Given the description of an element on the screen output the (x, y) to click on. 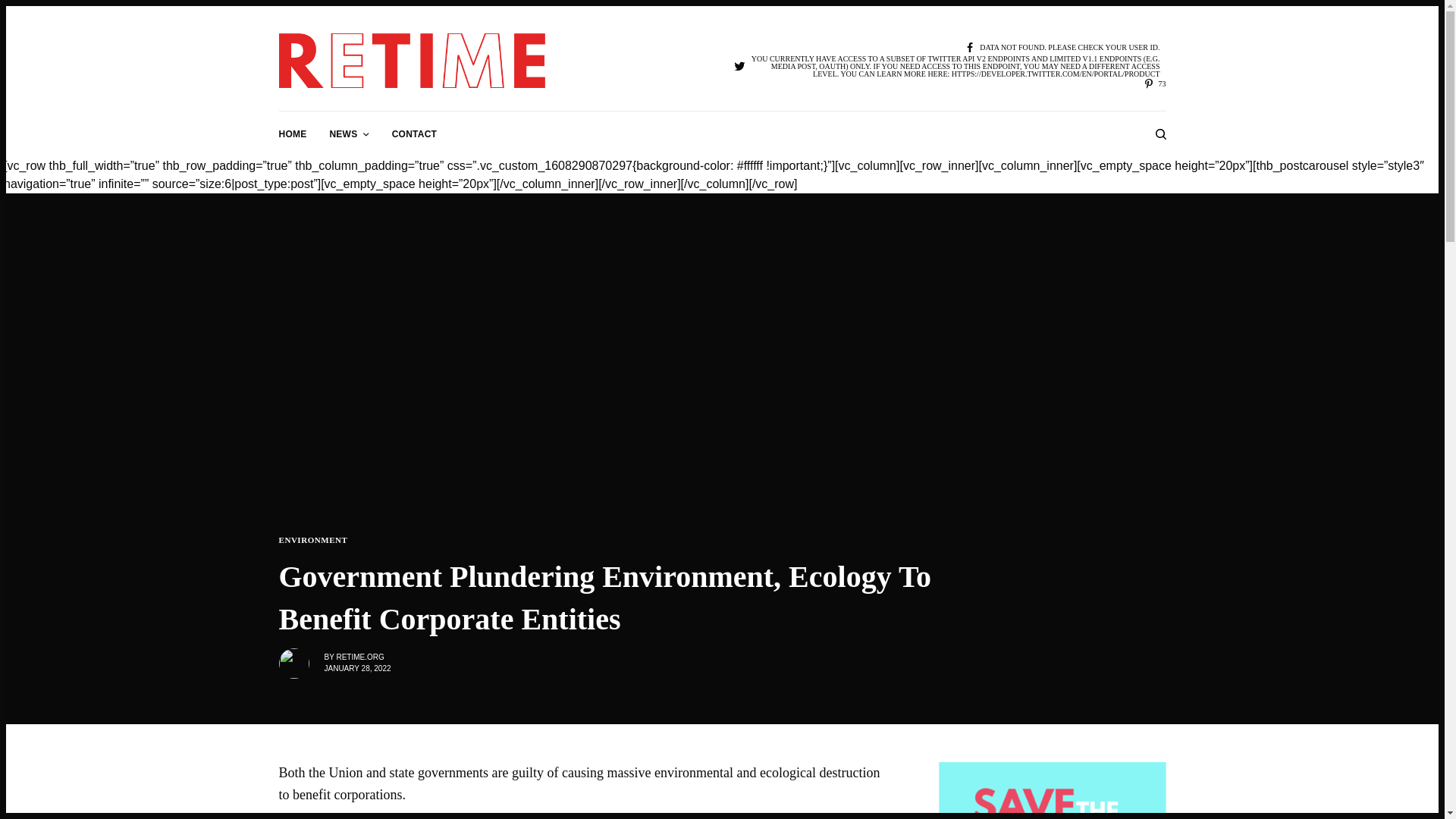
CONTACT (413, 134)
Posts by ReTime.org (360, 656)
73 (1154, 83)
ReTime (412, 60)
RETIME.ORG (360, 656)
ENVIRONMENT (313, 540)
DATA NOT FOUND. PLEASE CHECK YOUR USER ID. (1062, 47)
